Given the description of an element on the screen output the (x, y) to click on. 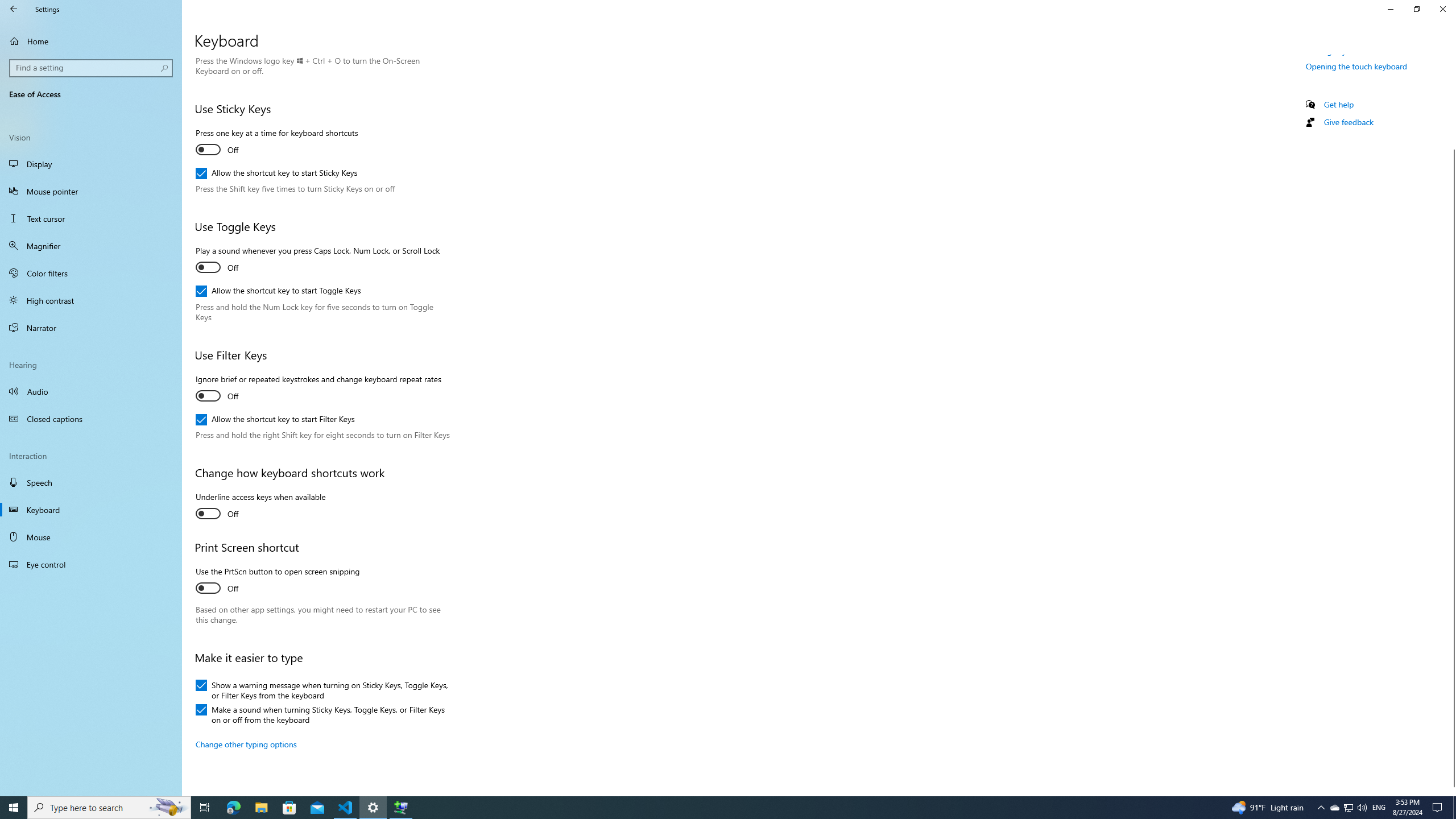
Minimize Settings (1390, 9)
Change other typing options (246, 743)
Restore Settings (1416, 9)
Closed captions (91, 418)
Text cursor (91, 217)
Extensible Wizards Host Process - 1 running window (400, 807)
Vertical Large Decrease (1451, 106)
Search highlights icon opens search home window (167, 807)
Eye control (91, 564)
Color filters (91, 272)
High contrast (91, 299)
Visual Studio Code - 1 running window (345, 807)
